Given the description of an element on the screen output the (x, y) to click on. 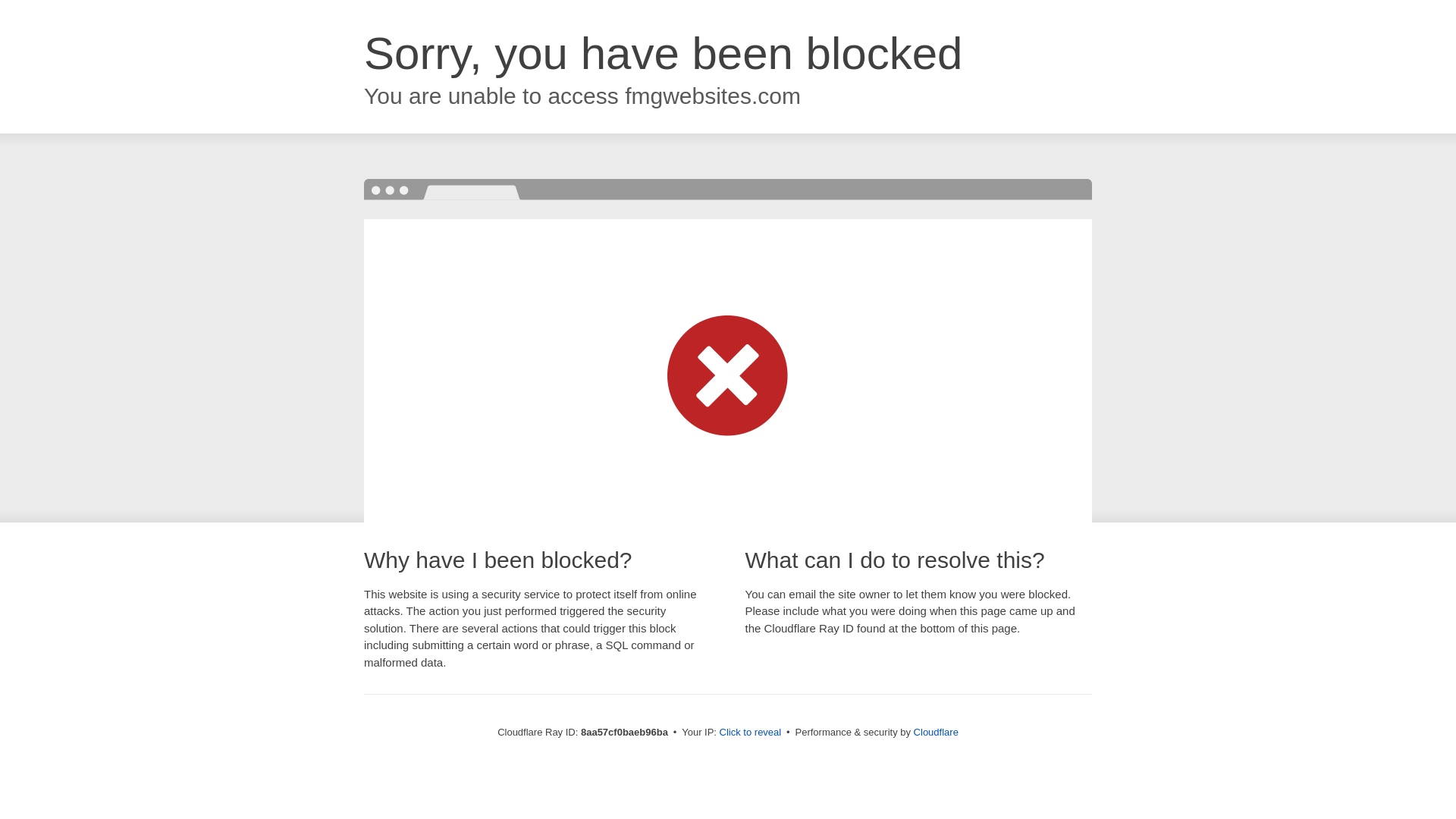
Cloudflare (936, 731)
Click to reveal (750, 732)
